Given the description of an element on the screen output the (x, y) to click on. 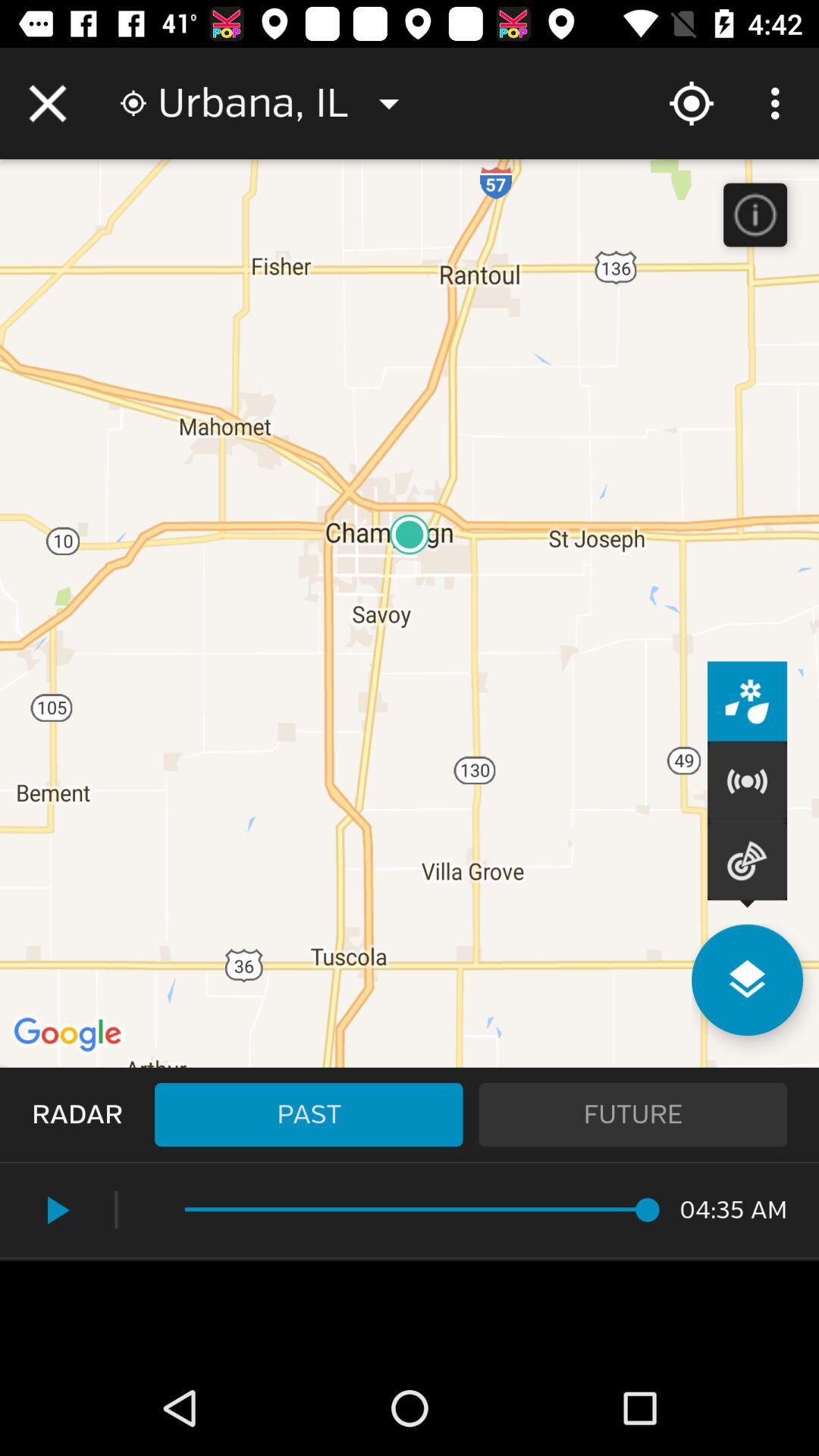
tap the past icon (308, 1114)
